Given the description of an element on the screen output the (x, y) to click on. 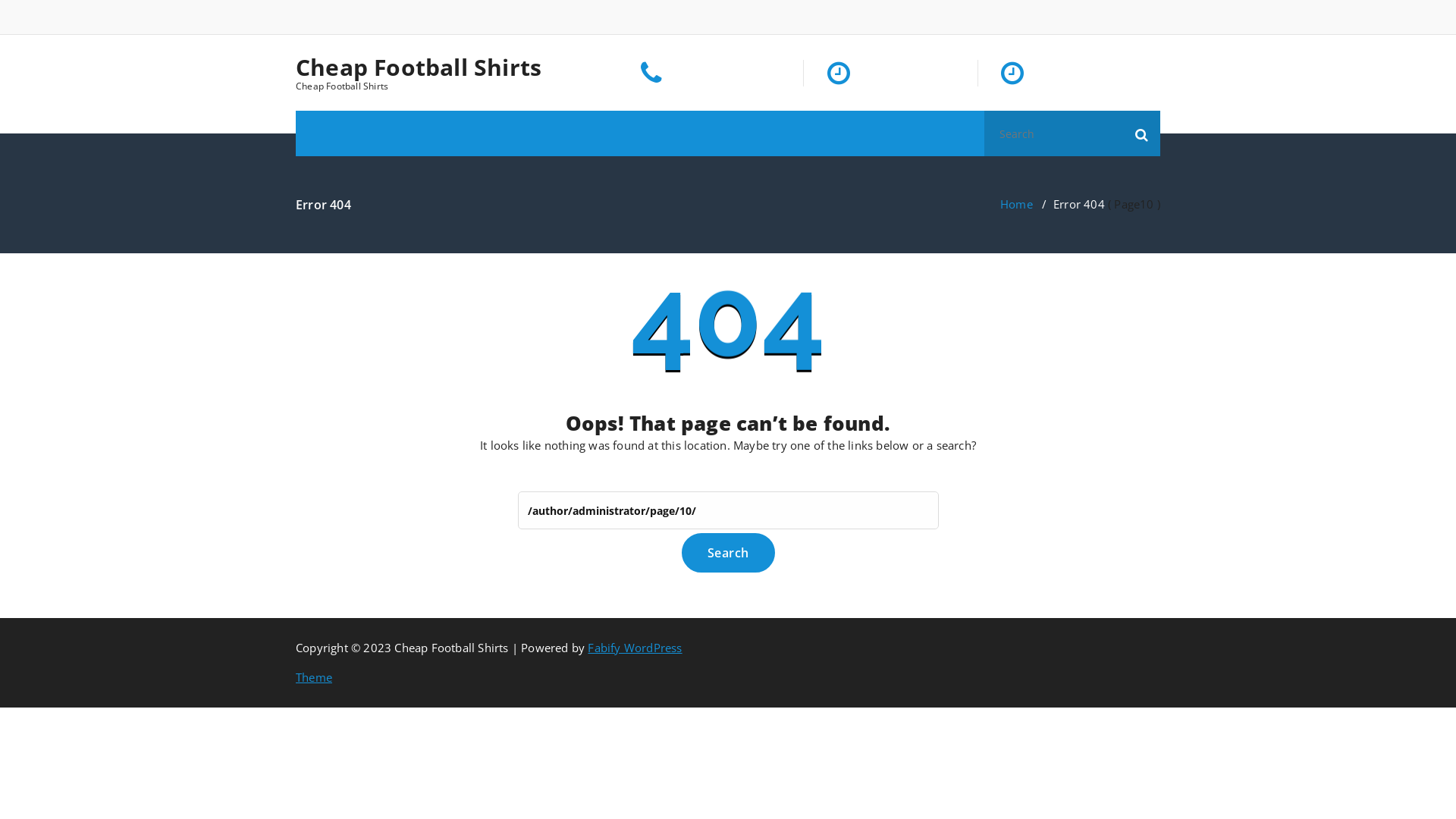
Cheap Football Shirts Element type: text (418, 67)
Search Element type: text (727, 552)
Fabify WordPress Theme Element type: text (488, 662)
Home Element type: text (1016, 203)
